Given the description of an element on the screen output the (x, y) to click on. 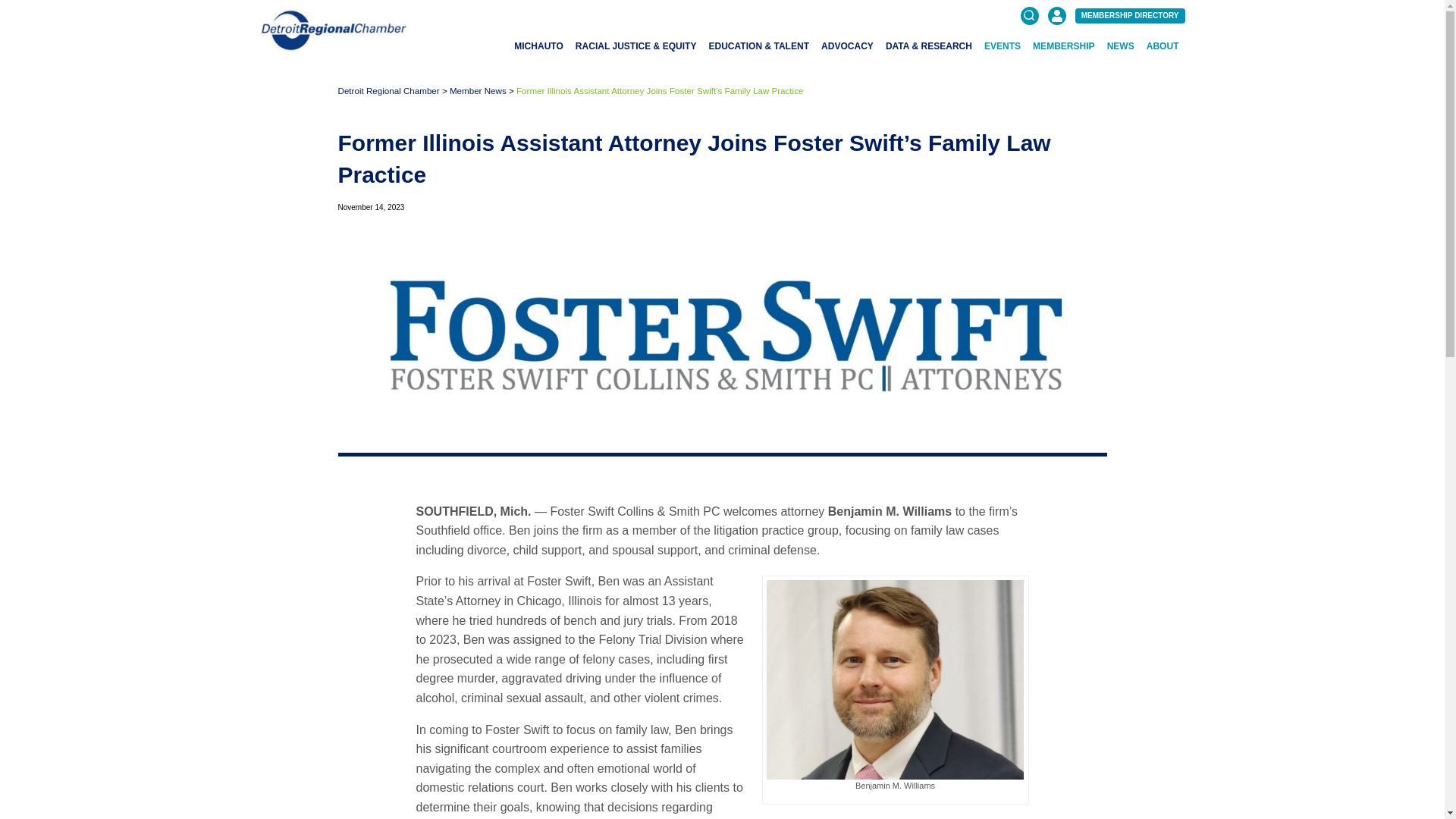
Go to the Member News Category archives. (477, 90)
Search (1172, 84)
MEMBERSHIP DIRECTORY (1130, 15)
Go to Detroit Regional Chamber. (388, 90)
MICHAUTO (538, 45)
